Given the description of an element on the screen output the (x, y) to click on. 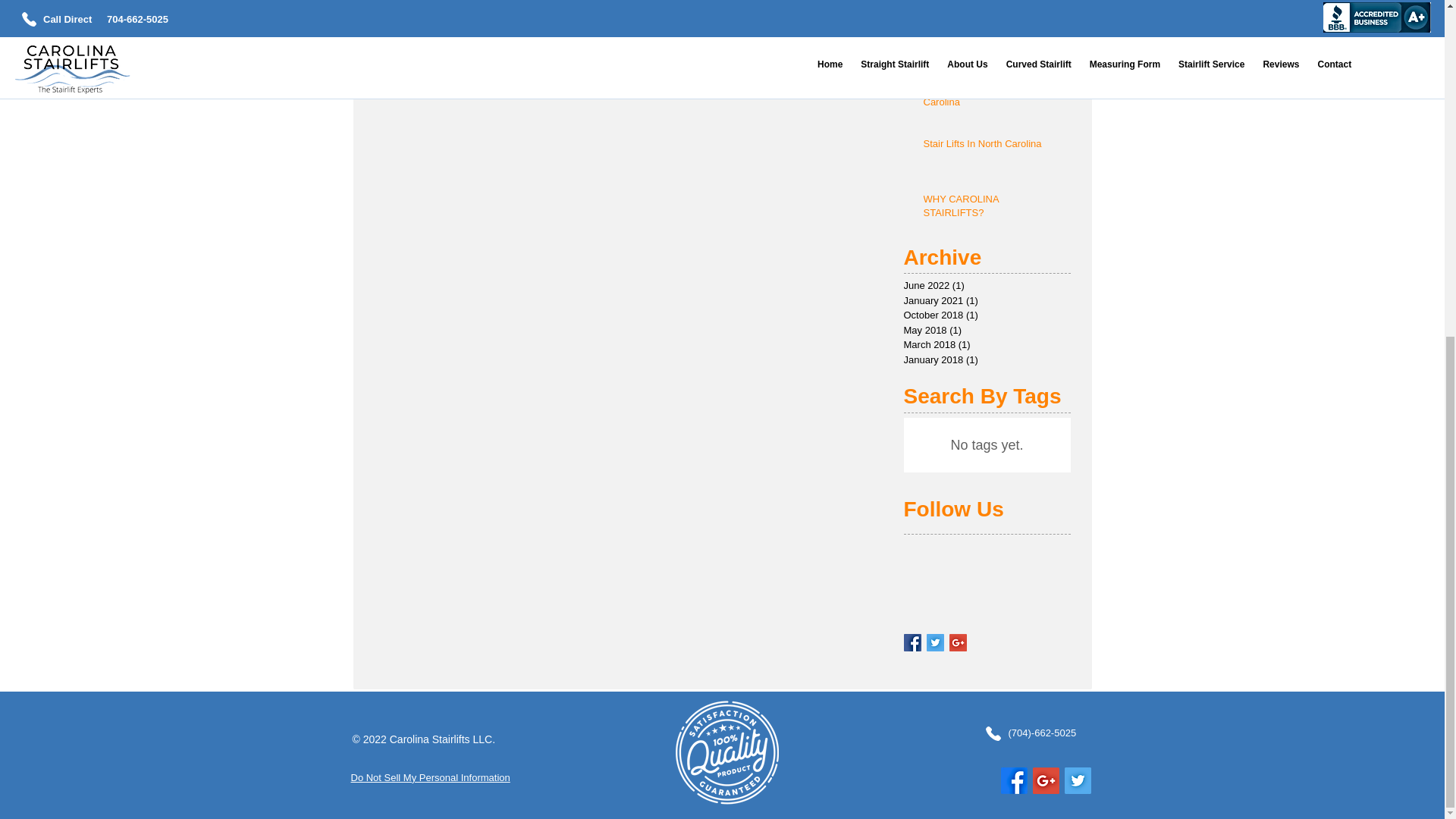
Stair Lift Repair Service In Carolina (992, 98)
Stair lifts, go up and down your stairs easily. (992, 2)
Carolina Stair Lifts Video (992, 35)
Do Not Sell My Personal Information (429, 777)
Stair Lifts In North Carolina (992, 147)
WHY CAROLINA STAIRLIFTS? (992, 209)
